Given the description of an element on the screen output the (x, y) to click on. 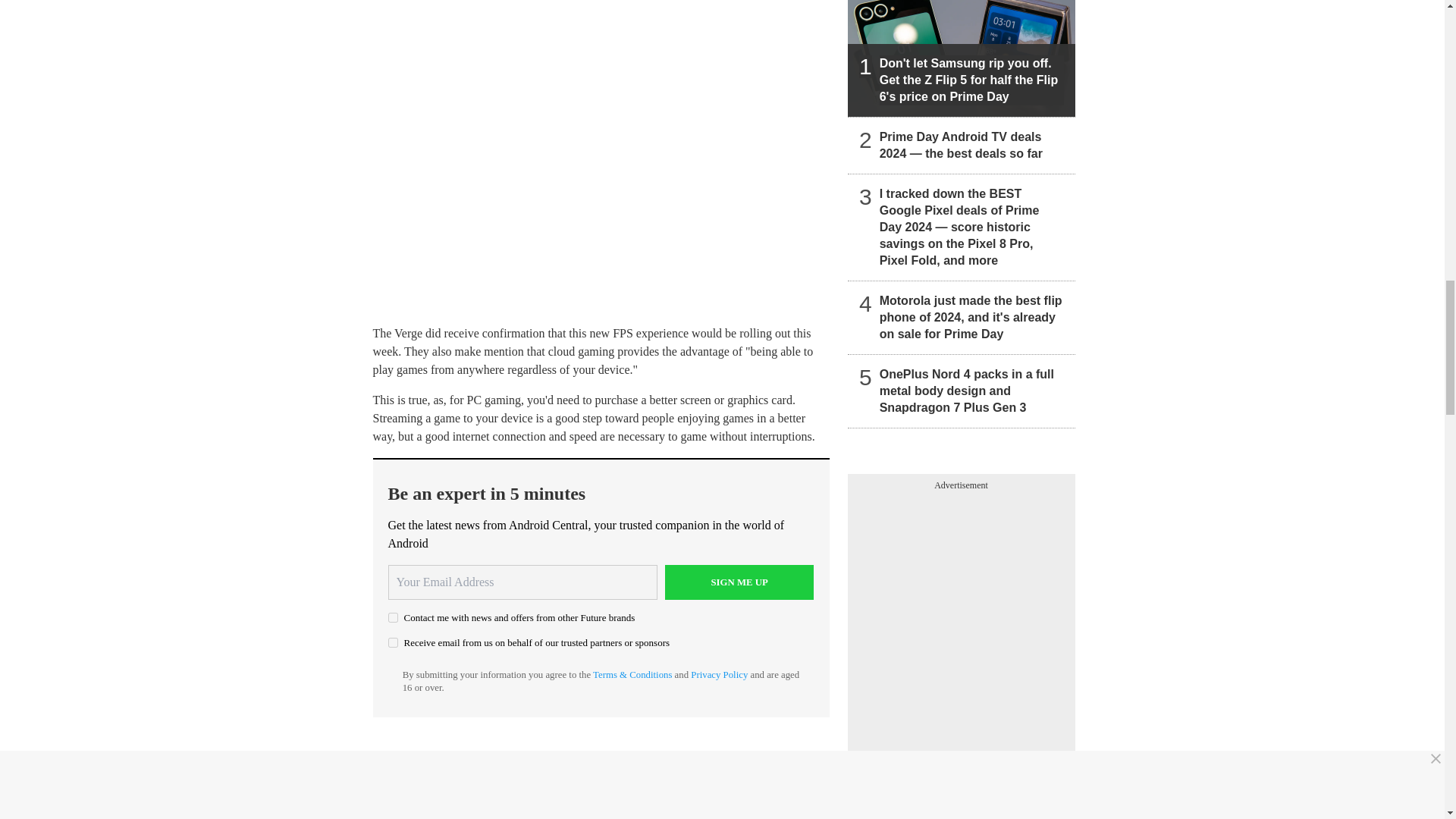
on (392, 617)
on (392, 642)
Sign me up (739, 582)
